Given the description of an element on the screen output the (x, y) to click on. 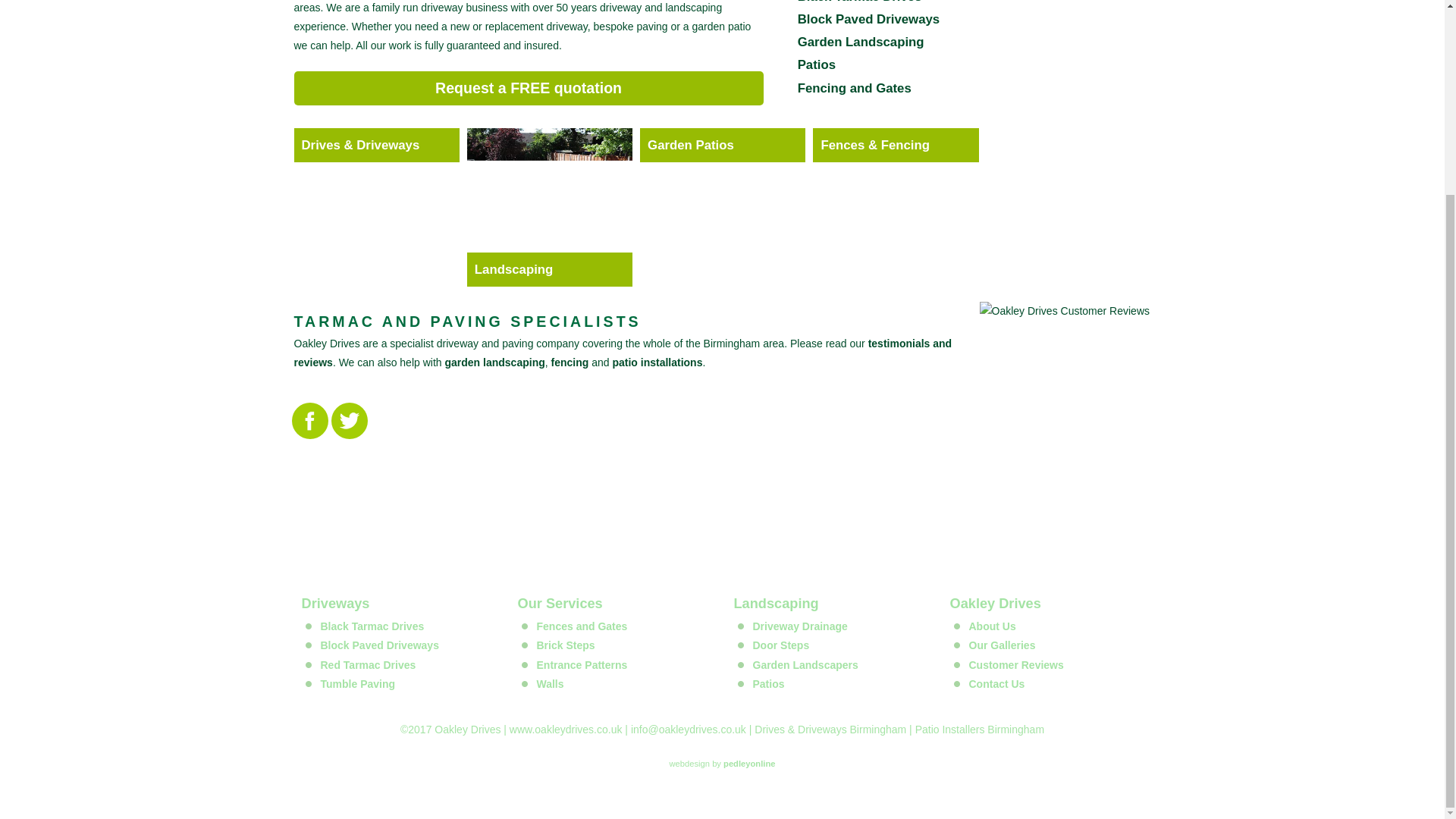
Landscaping (549, 269)
Patios (816, 64)
Garden Patios (722, 144)
Fencing and Gates (854, 88)
Black Tarmac Drives (859, 2)
Request a FREE quotation (528, 88)
testimonials and reviews (623, 352)
Block Paved Driveways (868, 19)
Garden Landscaping (860, 42)
